Given the description of an element on the screen output the (x, y) to click on. 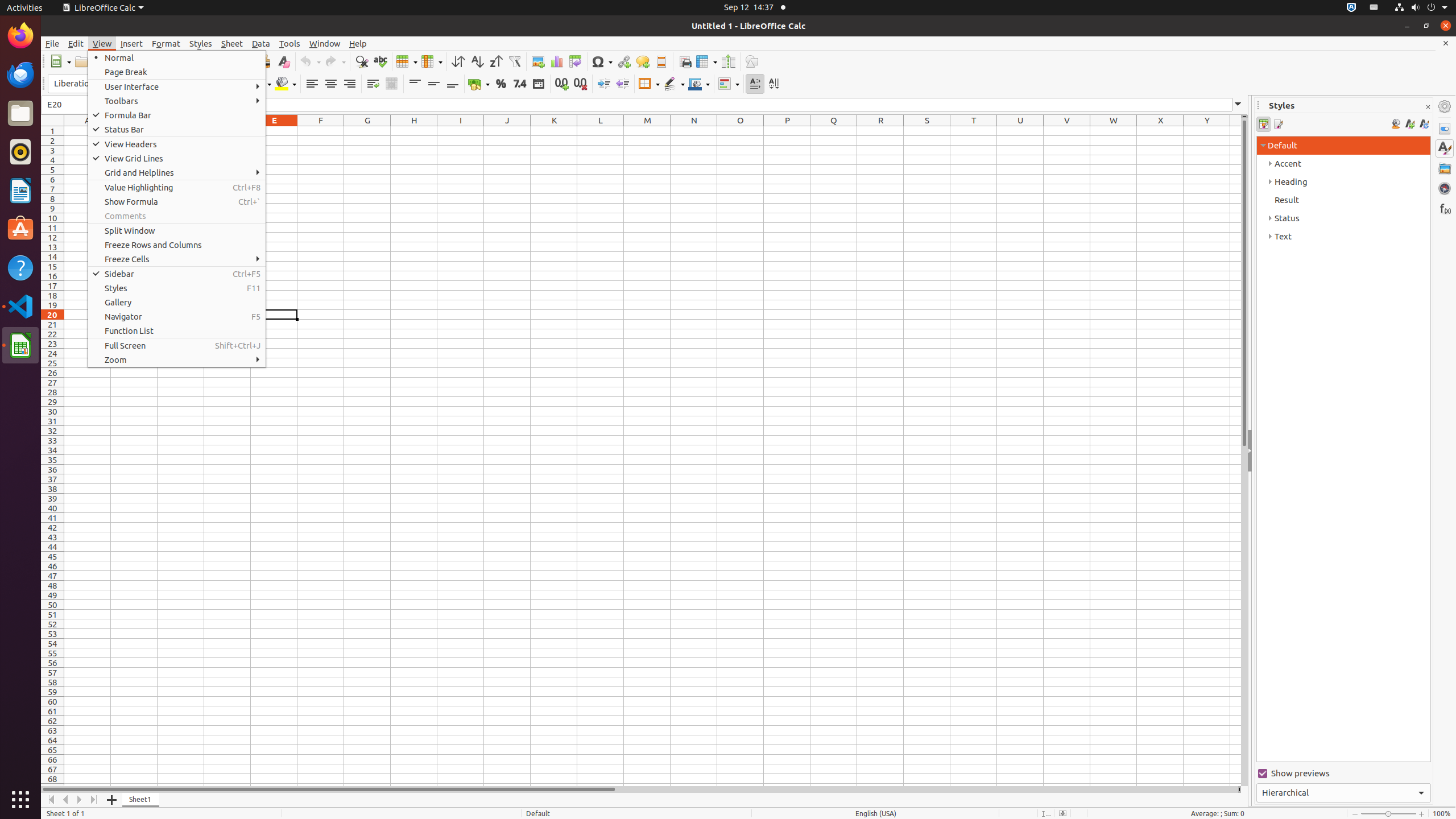
Show previews Element type: check-box (1343, 773)
Merge and Center Cells Element type: push-button (391, 83)
Properties Element type: radio-button (1444, 128)
Z1 Element type: table-cell (1235, 130)
G1 Element type: table-cell (367, 130)
